Given the description of an element on the screen output the (x, y) to click on. 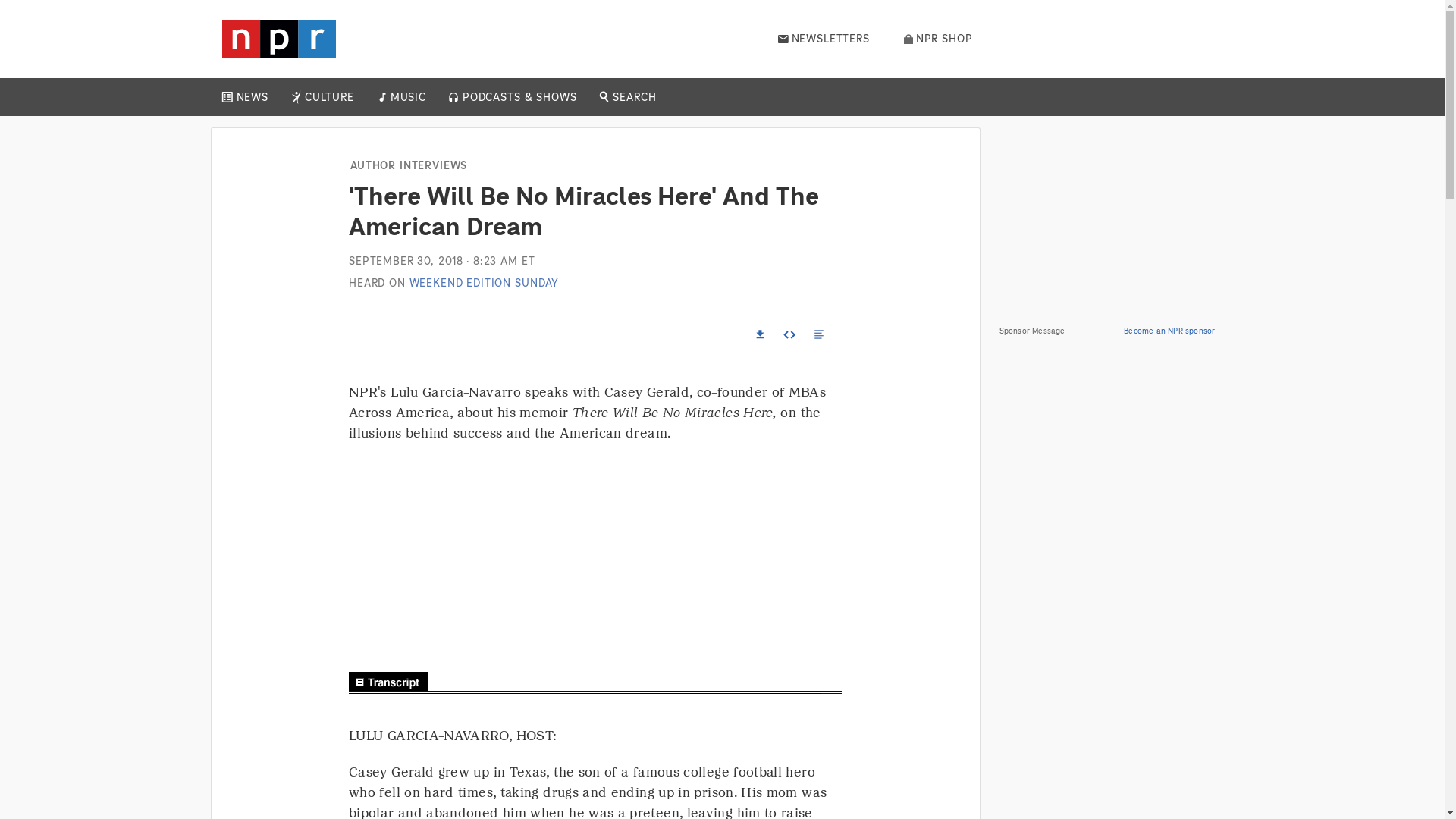
NEWS (251, 96)
NEWSLETTERS (823, 38)
NPR SHOP (938, 38)
CULTURE (328, 96)
MUSIC (407, 96)
